Given the description of an element on the screen output the (x, y) to click on. 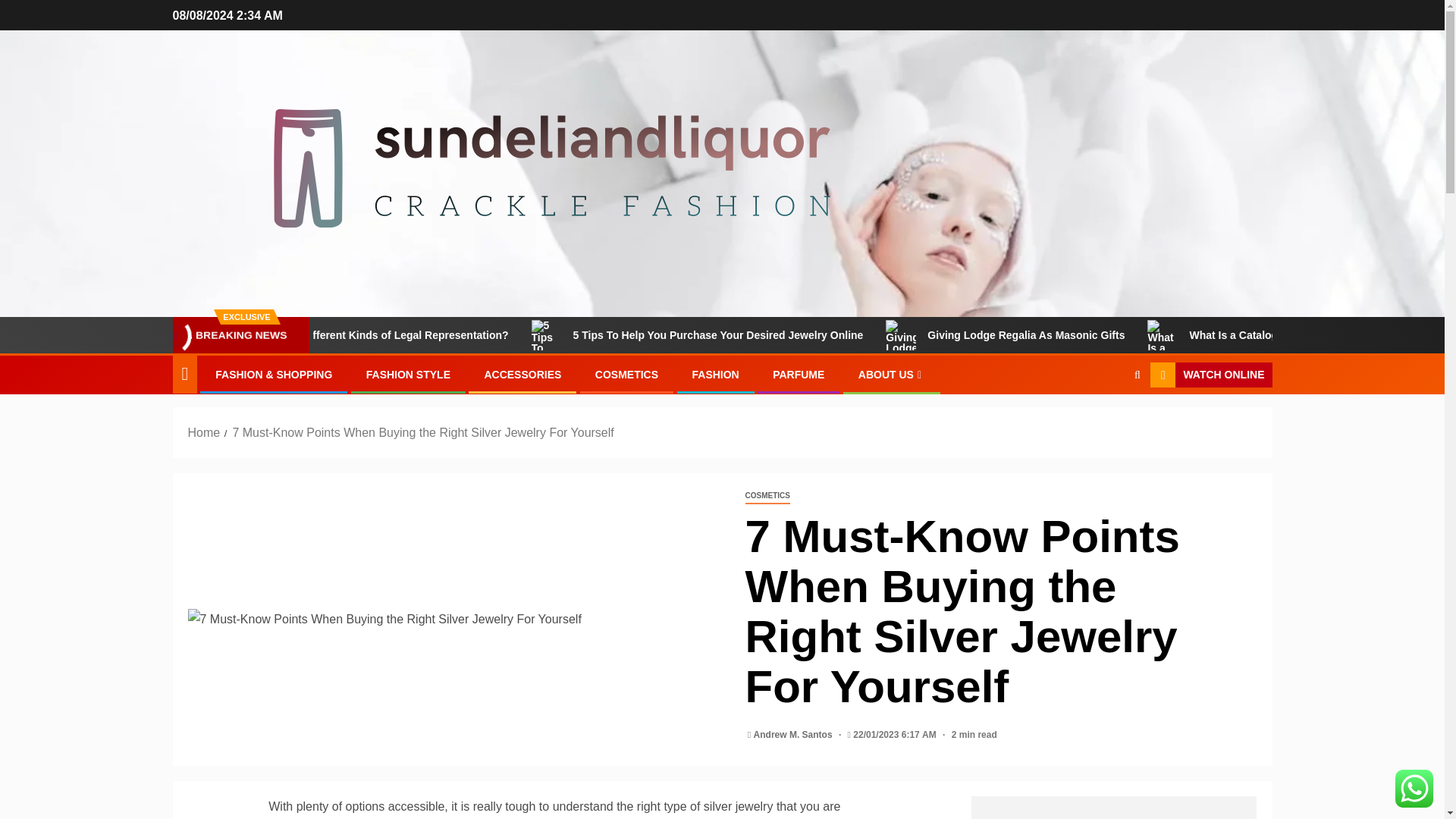
Giving Lodge Regalia As Masonic Gifts (1110, 335)
FASHION (714, 374)
COSMETICS (626, 374)
Andrew M. Santos (794, 734)
PARFUME (798, 374)
What Are Different Kinds of Legal Representation? (465, 335)
COSMETICS (766, 496)
5 Tips To Help You Purchase Your Desired Jewelry Online (802, 335)
